Given the description of an element on the screen output the (x, y) to click on. 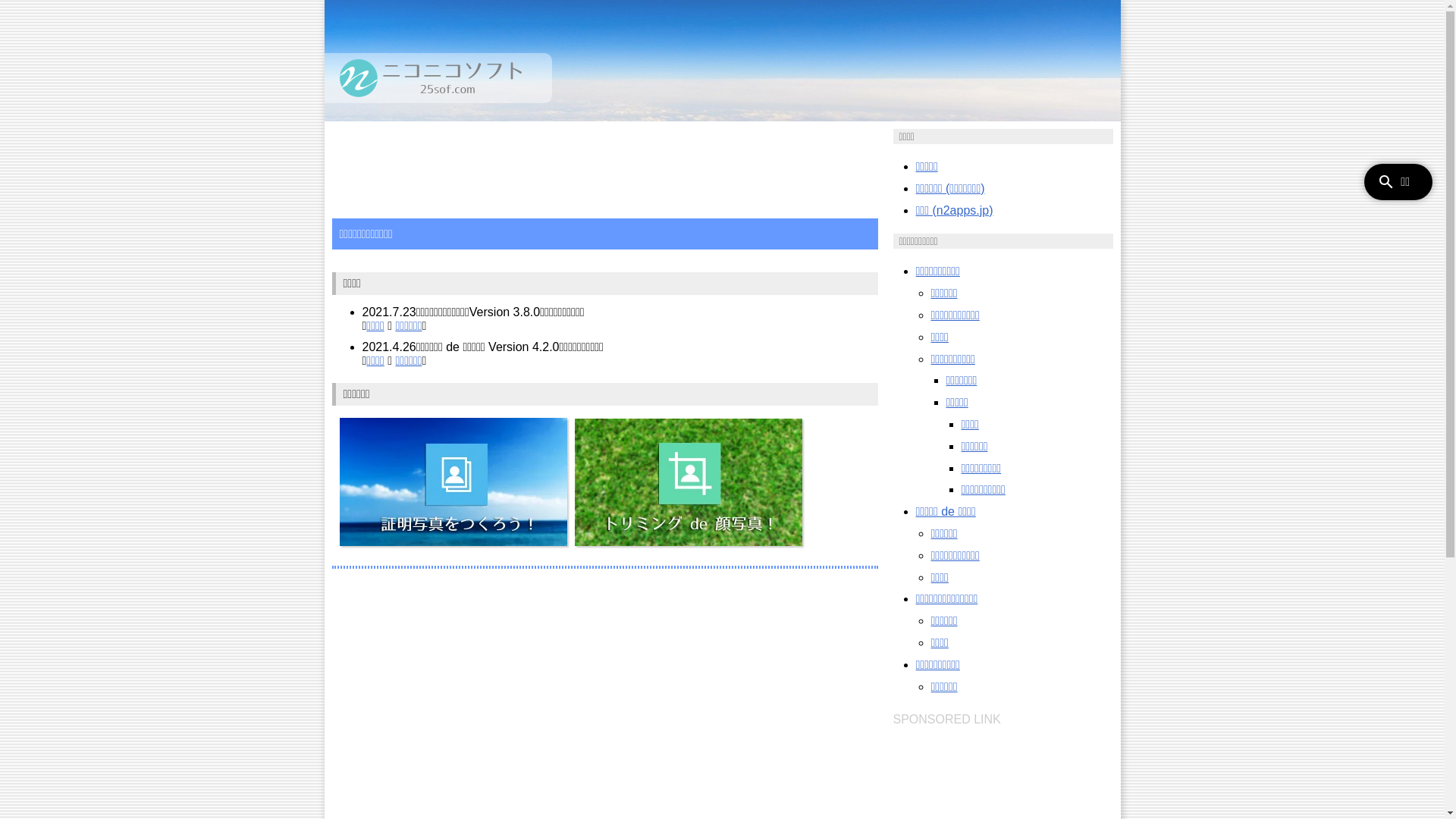
Advertisement Element type: hover (600, 162)
